Given the description of an element on the screen output the (x, y) to click on. 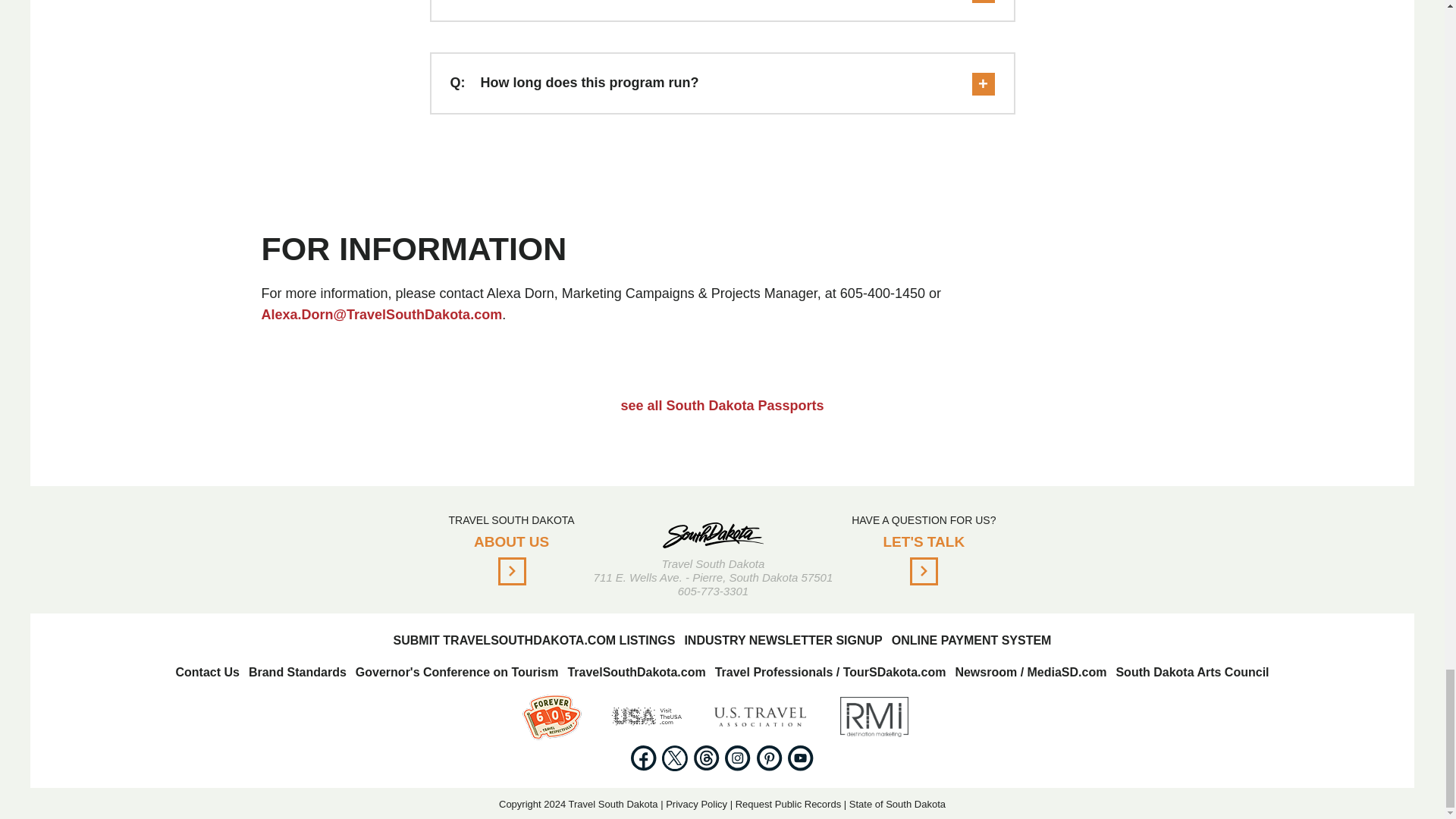
US Travel Association (759, 716)
Governor's Conference on Tourism (457, 671)
TravelSouthDakota.com (635, 671)
Newsroom (1030, 671)
Submit TravelSouthDakota.com Listings (534, 640)
Brand Standards (297, 671)
Online Payment System (971, 640)
South Dakota Arts Council (1191, 671)
Rocky Mountain International (873, 716)
Industry Newsletter Signup (783, 640)
